Given the description of an element on the screen output the (x, y) to click on. 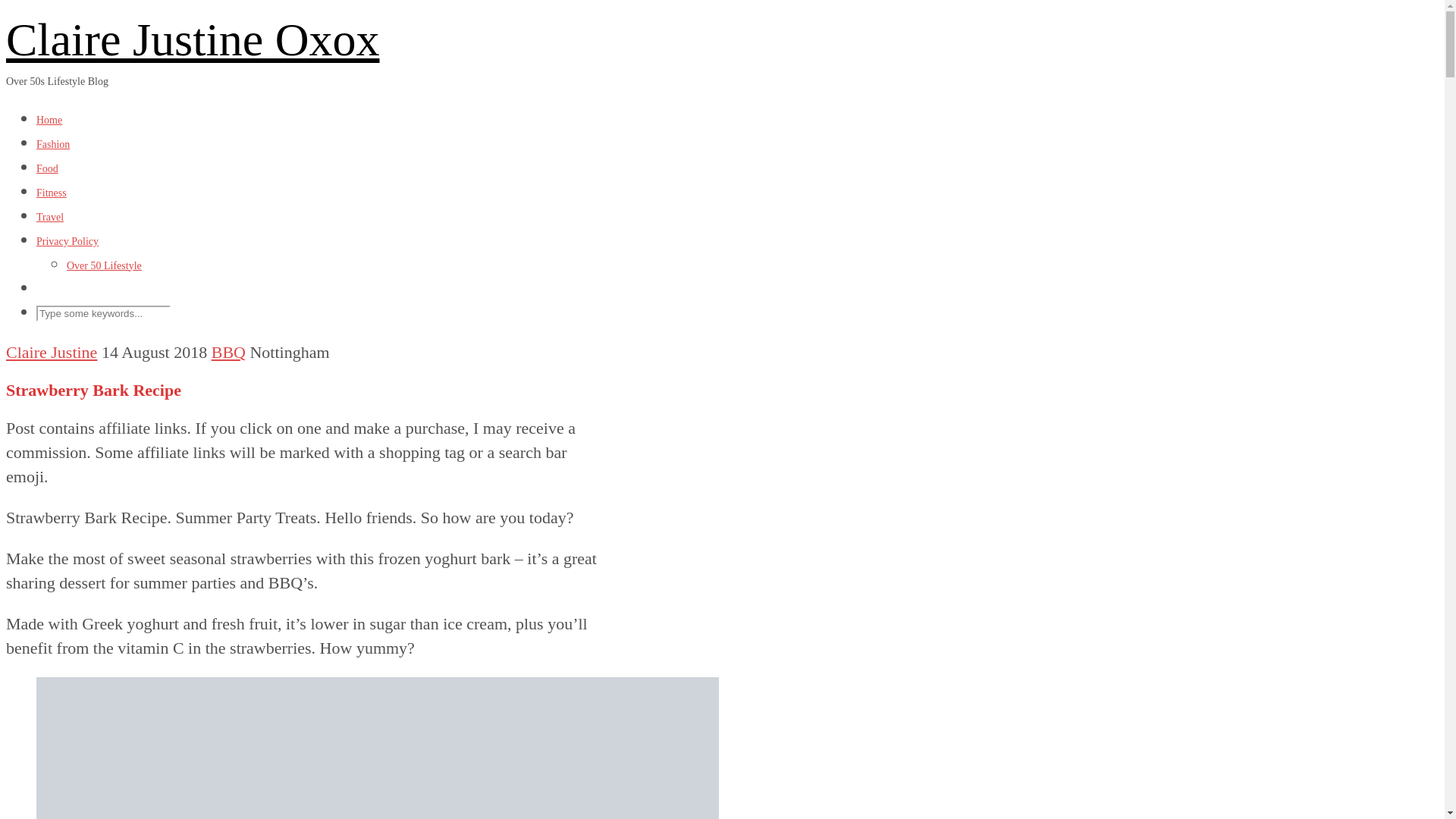
Fitness (51, 193)
FRO-YO Strawberry Bark: Summer Party Treats (377, 748)
Home (49, 120)
Over 50 Lifestyle (103, 265)
Food (47, 168)
Privacy Policy (67, 241)
Posts by Claire Justine (51, 352)
Claire Justine Oxox (192, 39)
BBQ (228, 352)
Claire Justine Oxox (192, 39)
